Given the description of an element on the screen output the (x, y) to click on. 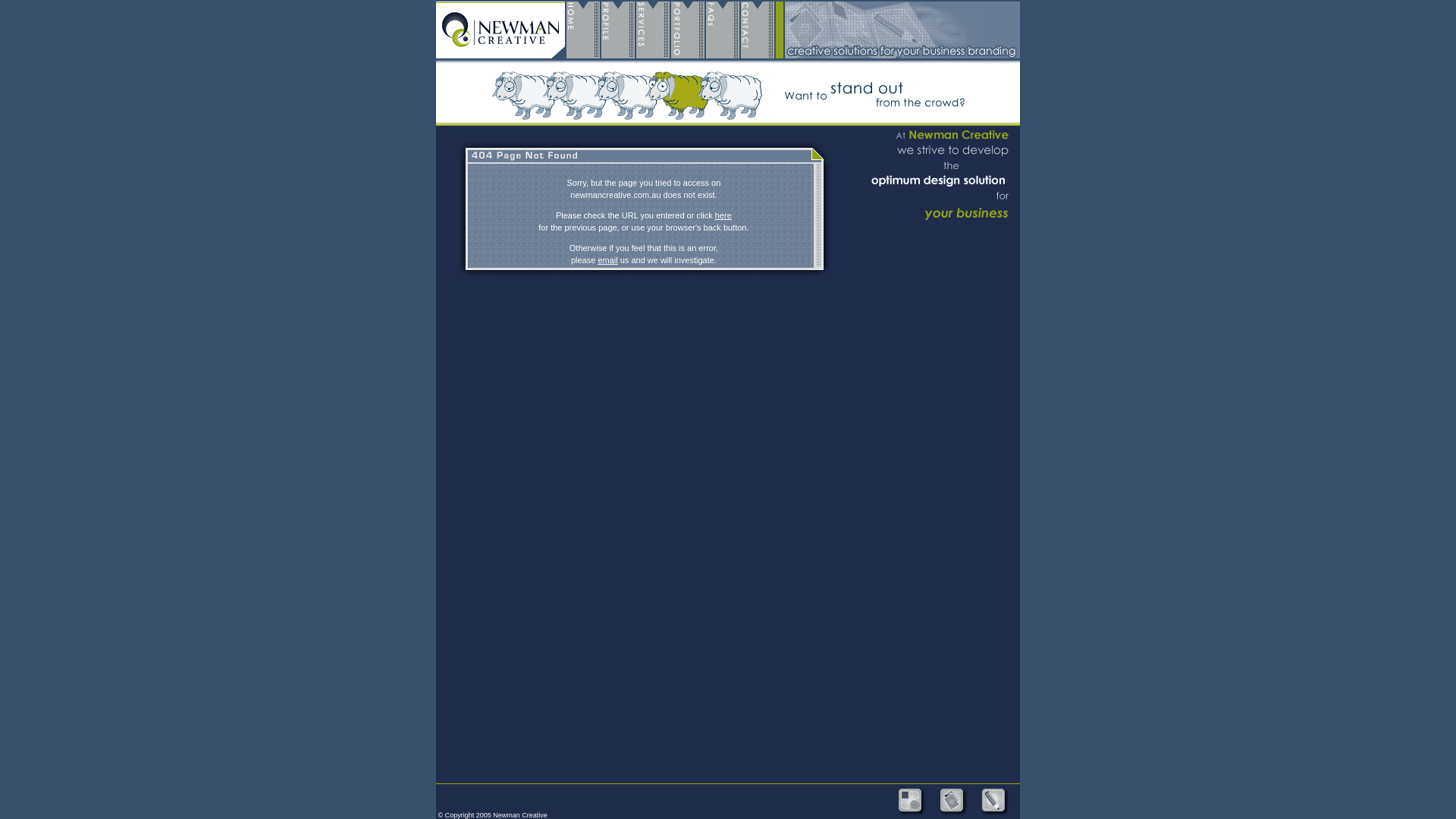
email Element type: text (607, 259)
here Element type: text (723, 214)
